Given the description of an element on the screen output the (x, y) to click on. 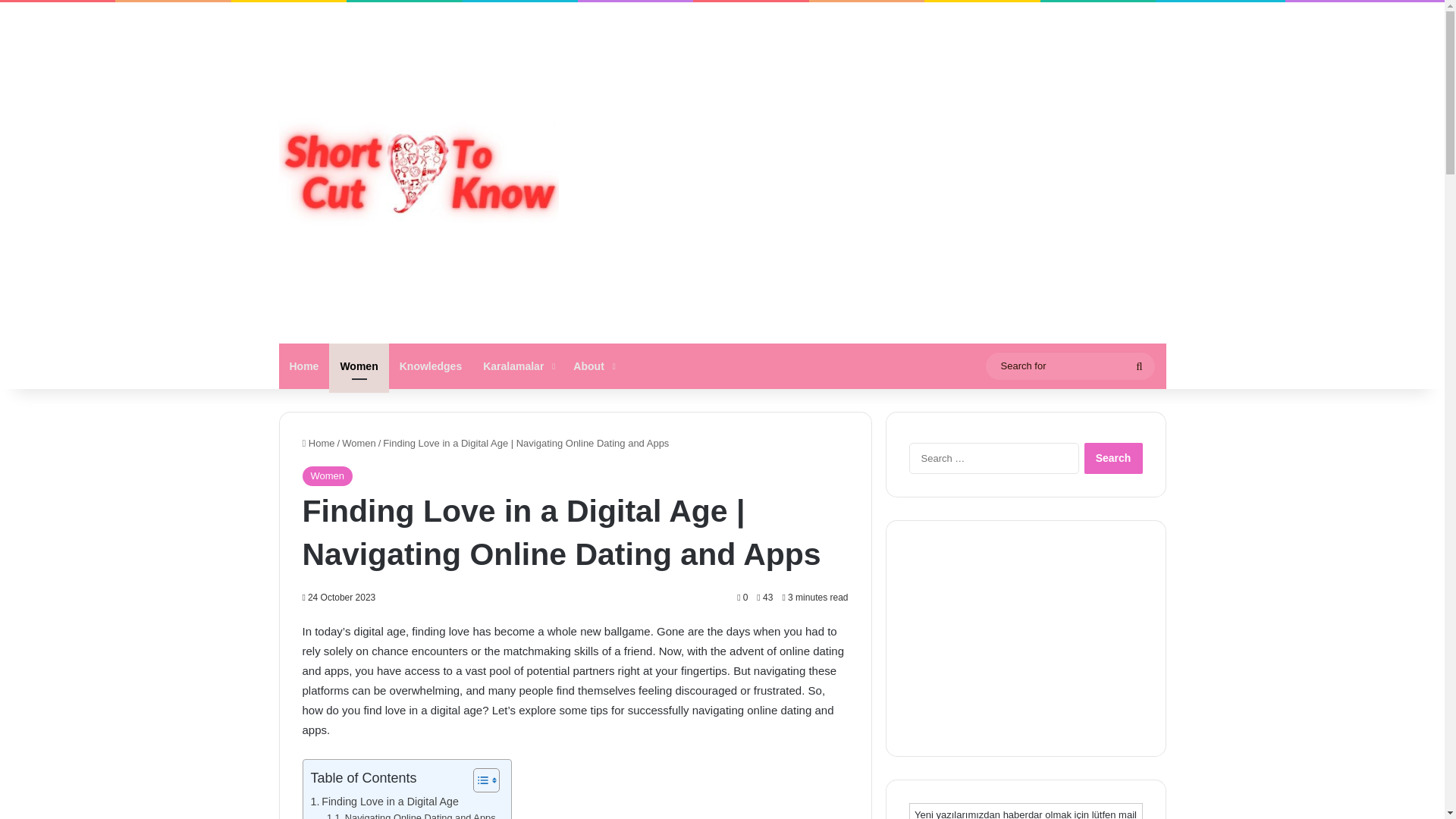
Search (1113, 458)
Search for (1139, 366)
Women (358, 442)
Home (317, 442)
Home (304, 366)
Karalamalar (516, 366)
Navigating Online Dating and Apps (411, 814)
Search for (1069, 365)
About (592, 366)
Knowledges (429, 366)
